Given the description of an element on the screen output the (x, y) to click on. 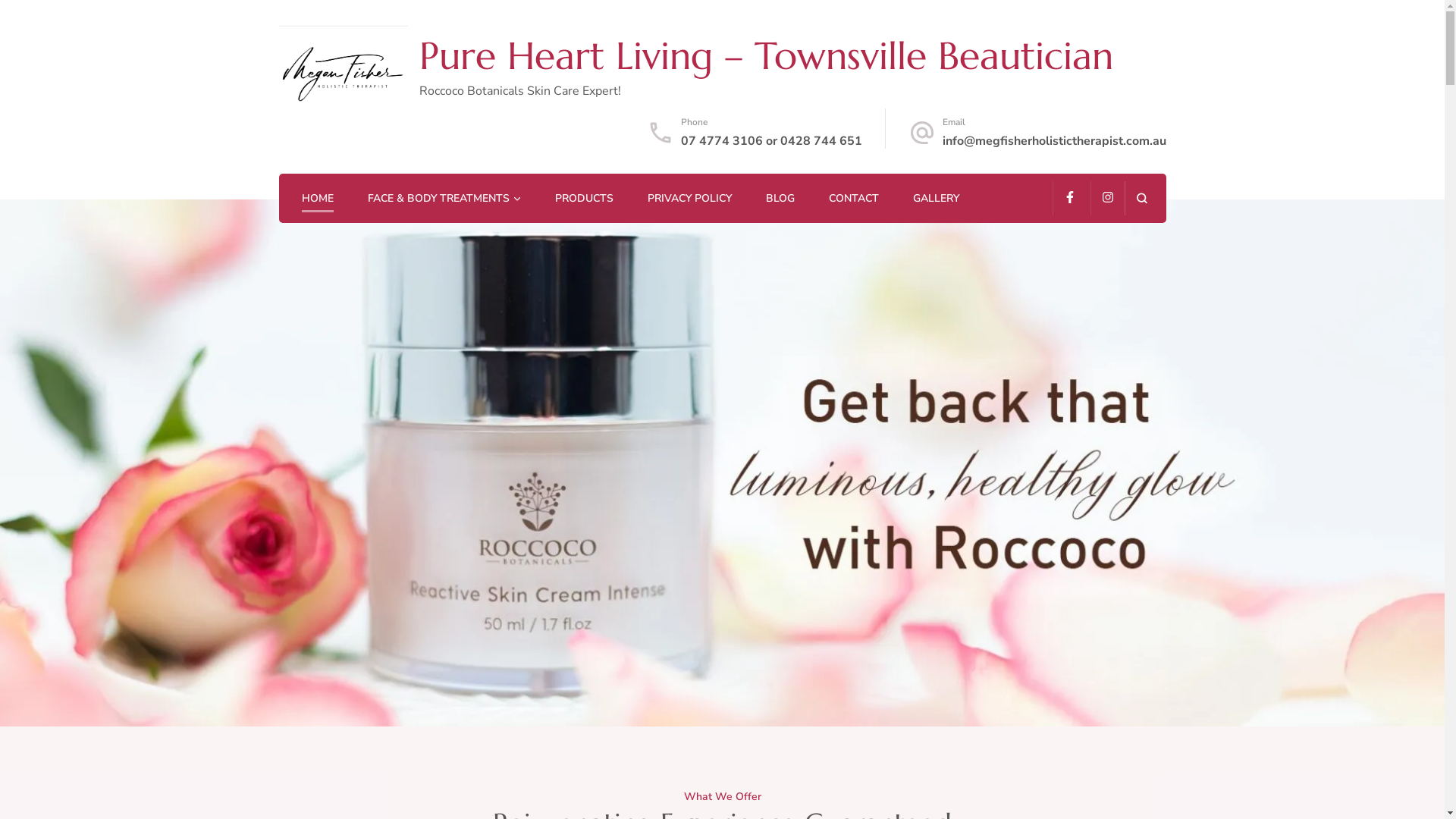
FACE & BODY TREATMENTS Element type: text (437, 199)
Subscribe Element type: text (823, 525)
PRODUCTS Element type: text (584, 199)
CONTACT Element type: text (853, 199)
BLOG Element type: text (779, 199)
GALLERY Element type: text (936, 199)
PRIVACY POLICY Element type: text (689, 199)
HOME Element type: text (317, 199)
info@megfisherholistictherapist.com.au Element type: text (1053, 140)
07 4774 3106 or 0428 744 651 Element type: text (771, 140)
